Given the description of an element on the screen output the (x, y) to click on. 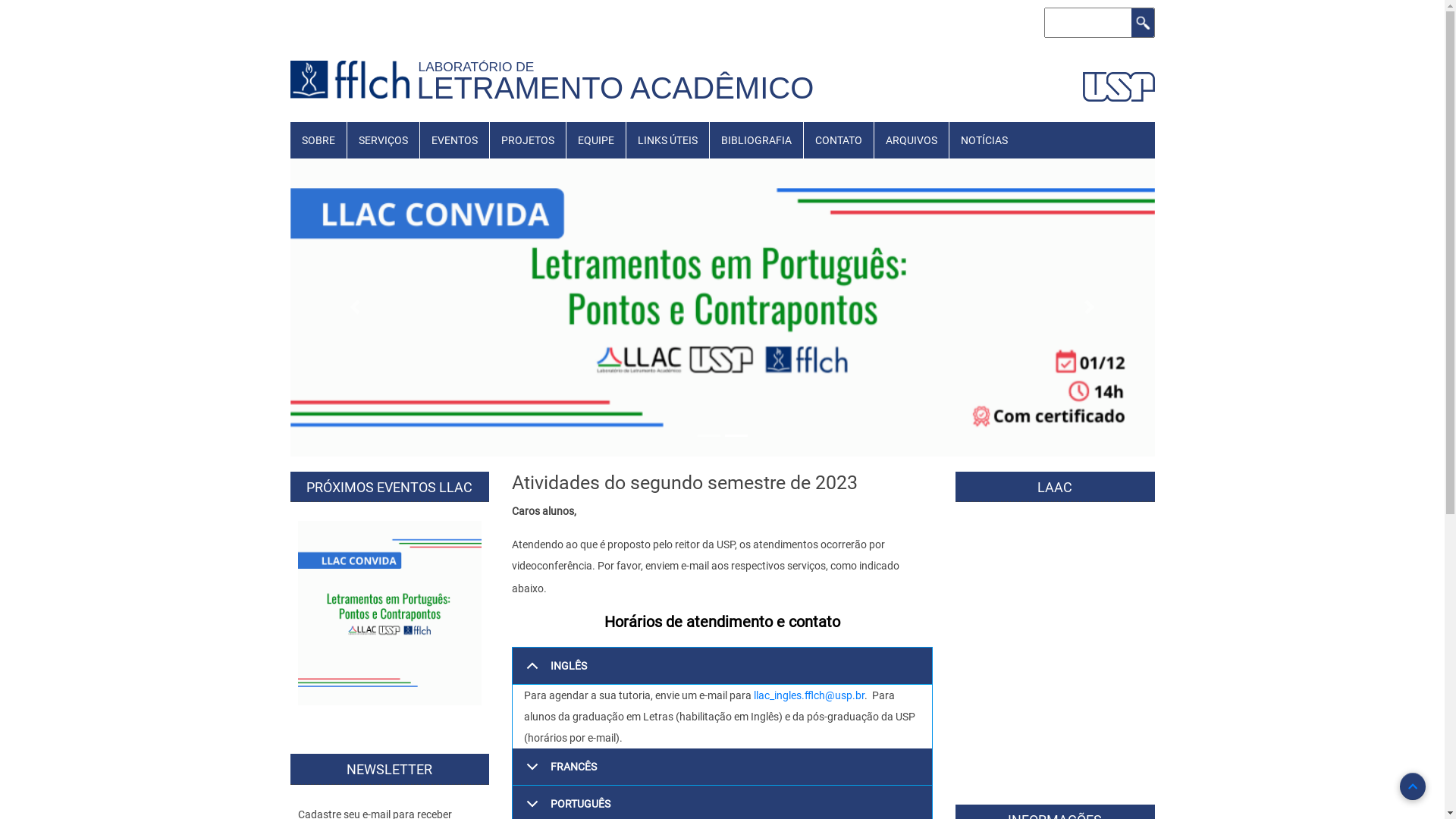
SOBRE Element type: text (317, 140)
YouTube video player Element type: hover (1054, 721)
llac_ingles.fflch@usp.br Element type: text (808, 695)
BIBLIOGRAFIA Element type: text (756, 140)
Previous Element type: text (354, 306)
Next Element type: text (1089, 306)
CONTATO Element type: text (838, 140)
PROJETOS Element type: text (527, 140)
Buscar Element type: text (1142, 22)
EQUIPE Element type: text (594, 140)
ARQUIVOS Element type: text (910, 140)
EVENTOS Element type: text (454, 140)
Back to Top Element type: hover (1412, 786)
